Given the description of an element on the screen output the (x, y) to click on. 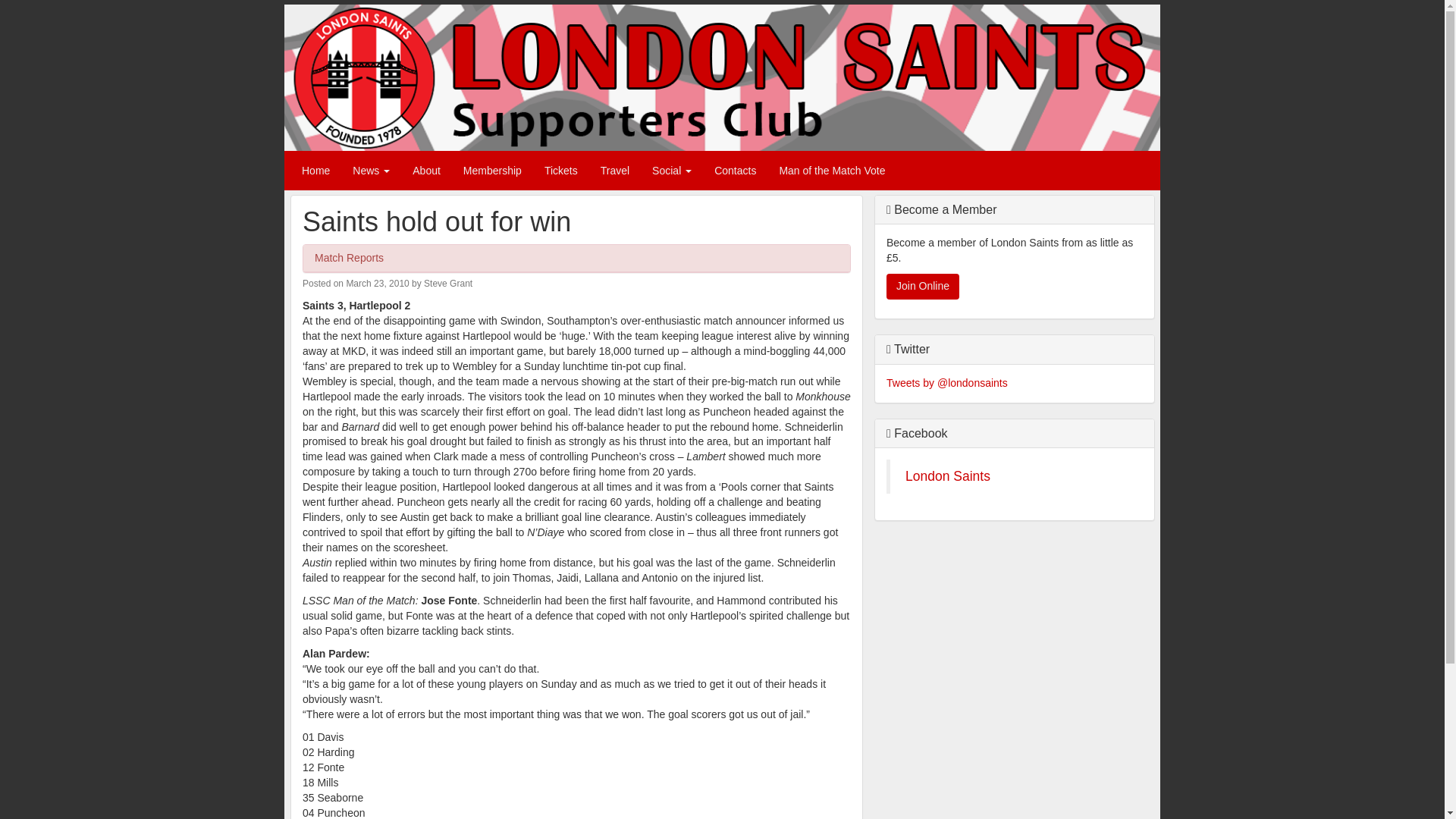
Social (671, 170)
Membership (491, 170)
Join Online (922, 286)
London Saints (947, 476)
Travel (614, 170)
Match Reports (349, 257)
Man of the Match Vote (831, 170)
Tickets (560, 170)
News (370, 170)
Home (314, 170)
